Given the description of an element on the screen output the (x, y) to click on. 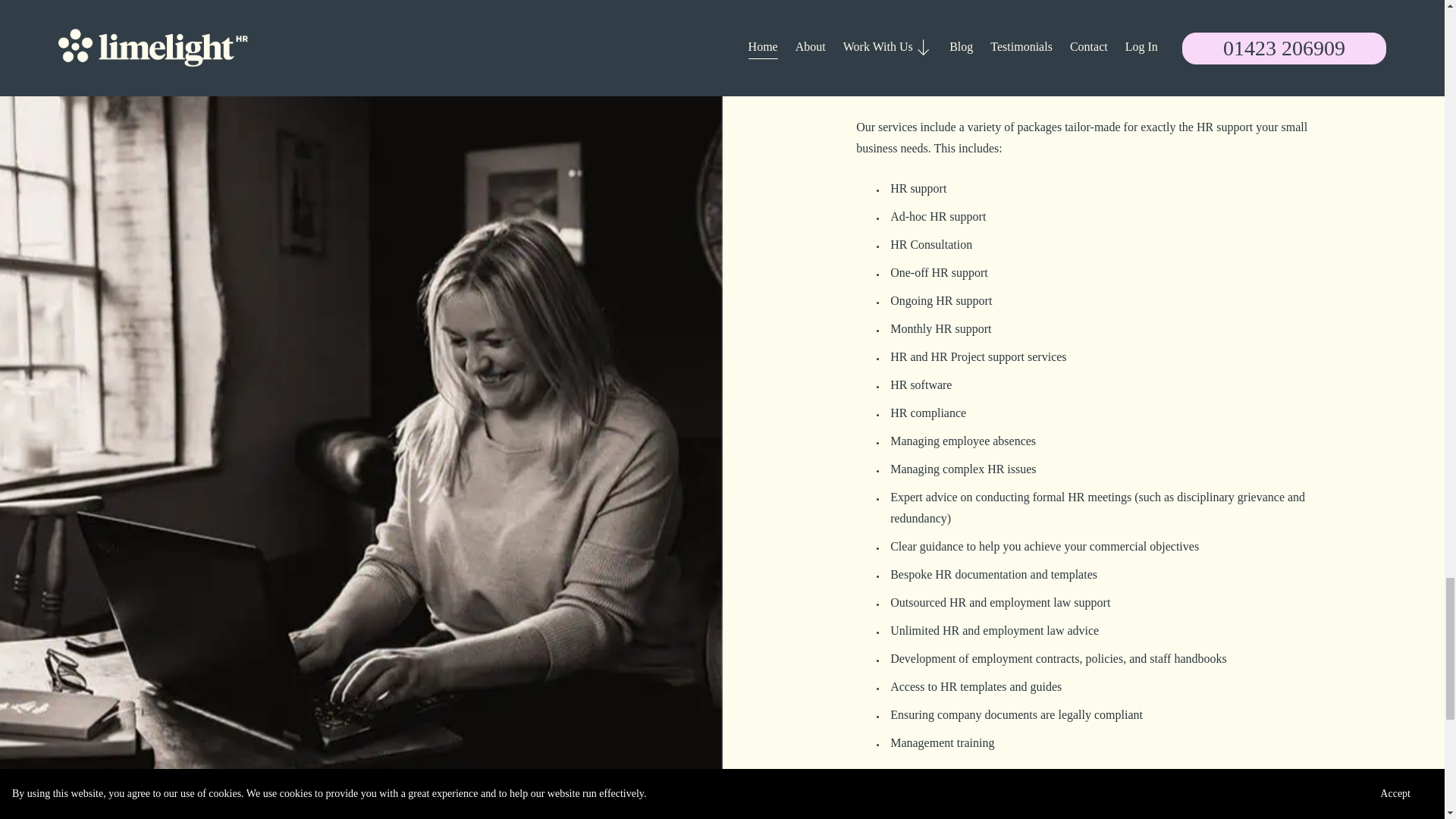
Work With Us (1077, 775)
